Given the description of an element on the screen output the (x, y) to click on. 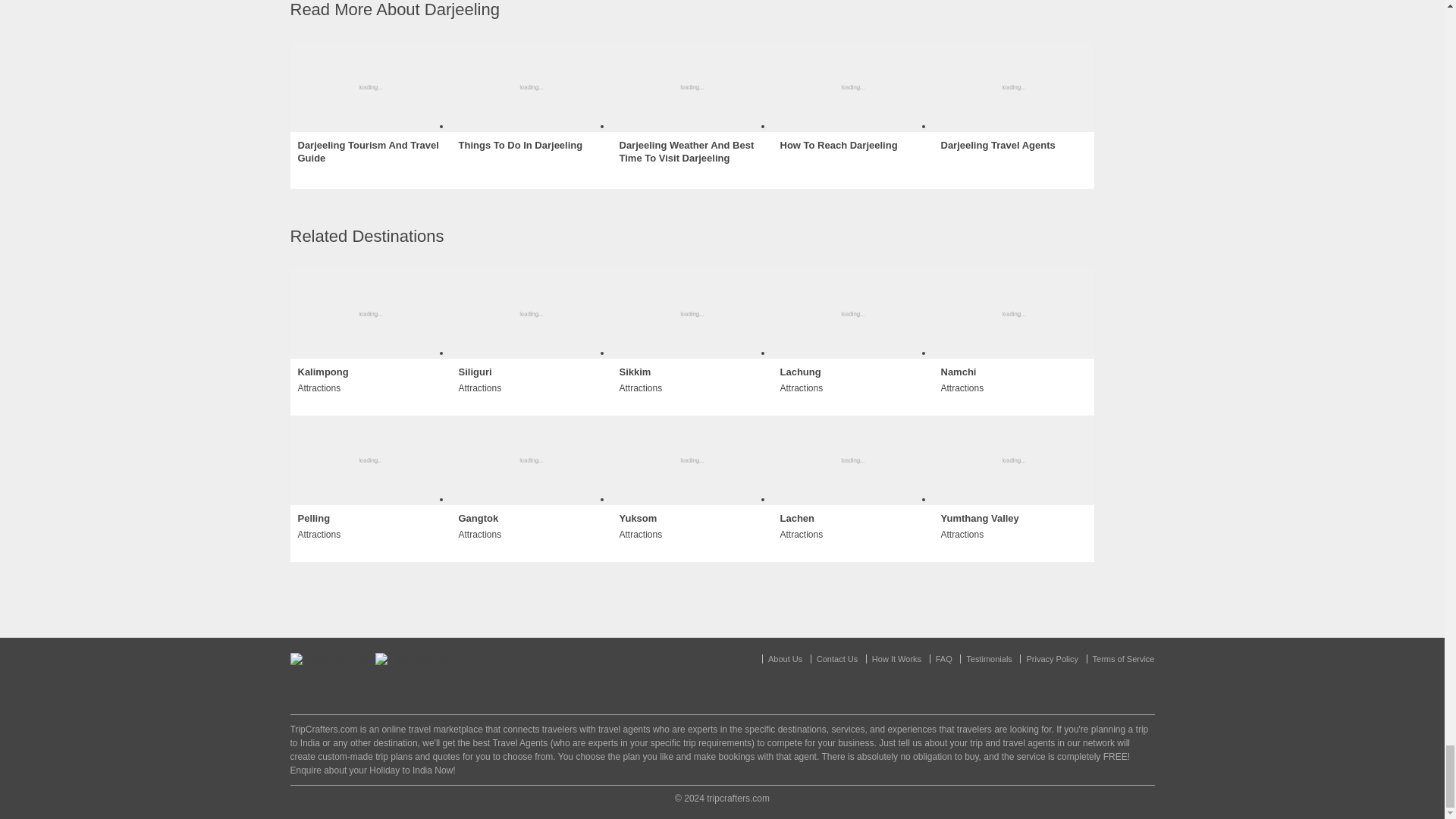
Darjeeling Weather And Best Time To Visit Darjeeling (691, 152)
Attractions (479, 386)
Siliguri (475, 372)
Attractions (318, 386)
Darjeeling Tourism And Travel Guide (369, 152)
Kalimpong (322, 372)
How To Reach Darjeeling (837, 145)
Things To Do In Darjeeling (520, 145)
Darjeeling Travel Agents (997, 145)
